Given the description of an element on the screen output the (x, y) to click on. 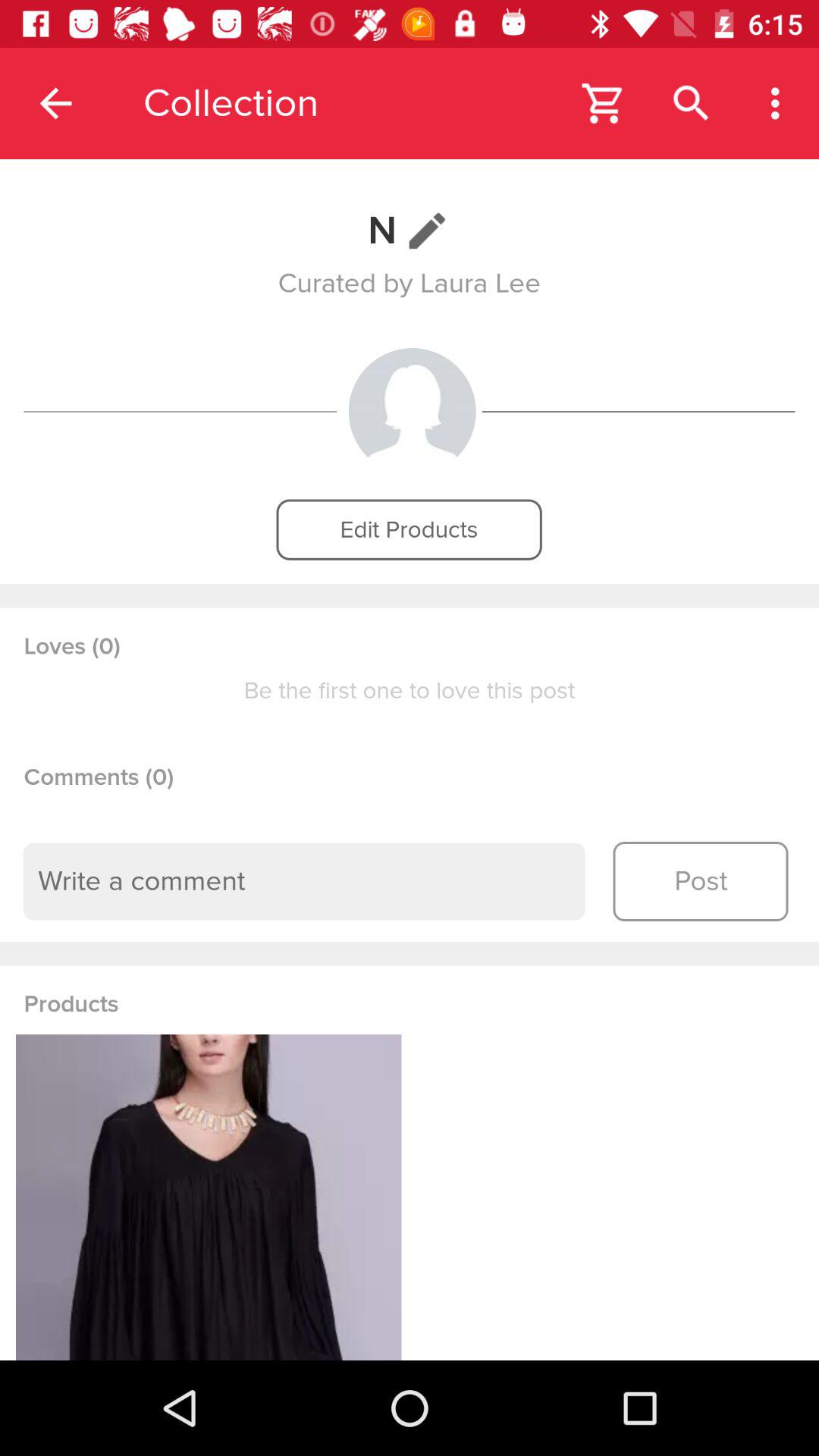
open the item above the products item (304, 881)
